Given the description of an element on the screen output the (x, y) to click on. 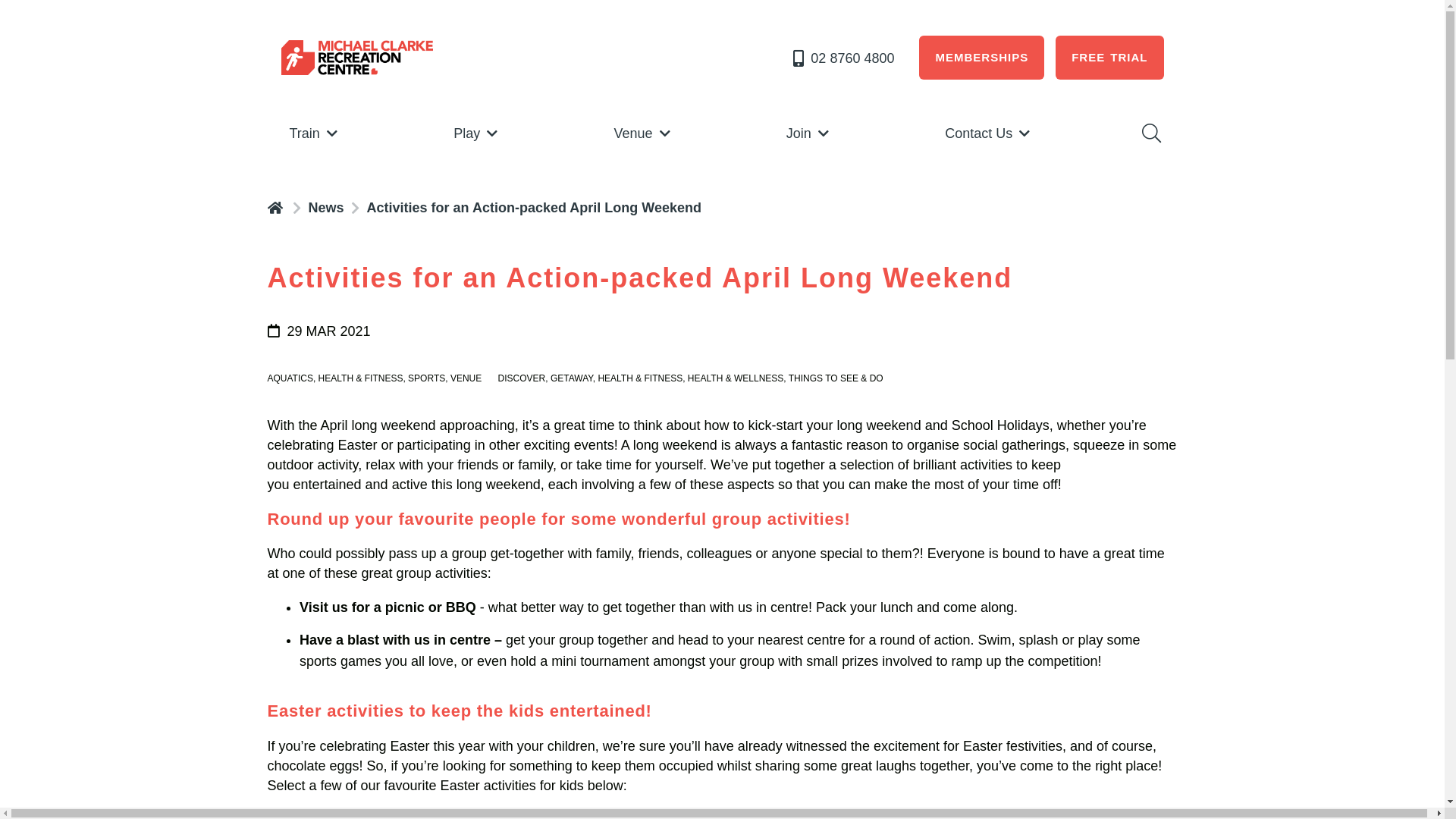
Play Element type: text (476, 133)
Contact Us Element type: text (988, 133)
Search Element type: text (1150, 133)
FREE TRIAL Element type: text (1109, 57)
  Element type: text (275, 206)
Train Element type: text (314, 133)
Venue Element type: text (642, 133)
02 8760 4800 Element type: text (842, 58)
Join Element type: text (808, 133)
News Element type: text (325, 207)
MEMBERSHIPS Element type: text (981, 57)
